Given the description of an element on the screen output the (x, y) to click on. 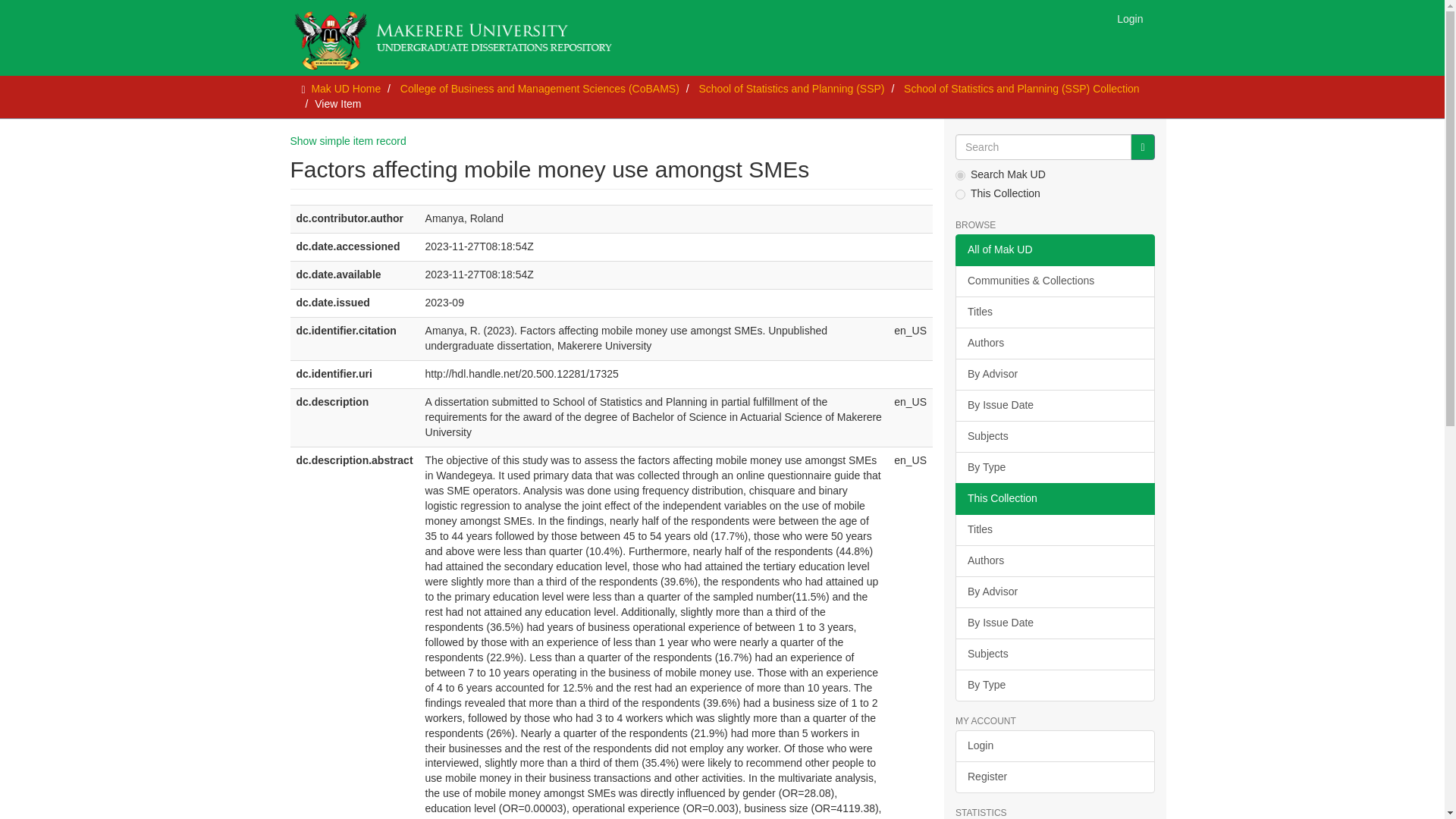
Authors (1054, 561)
Show simple item record (347, 141)
Titles (1054, 530)
By Issue Date (1054, 405)
By Type (1054, 468)
Titles (1054, 312)
All of Mak UD (1054, 250)
Mak UD Home (345, 88)
By Advisor (1054, 592)
Authors (1054, 343)
Go (1142, 146)
By Advisor (1054, 374)
Subjects (1054, 436)
Login (1129, 18)
This Collection (1054, 499)
